Given the description of an element on the screen output the (x, y) to click on. 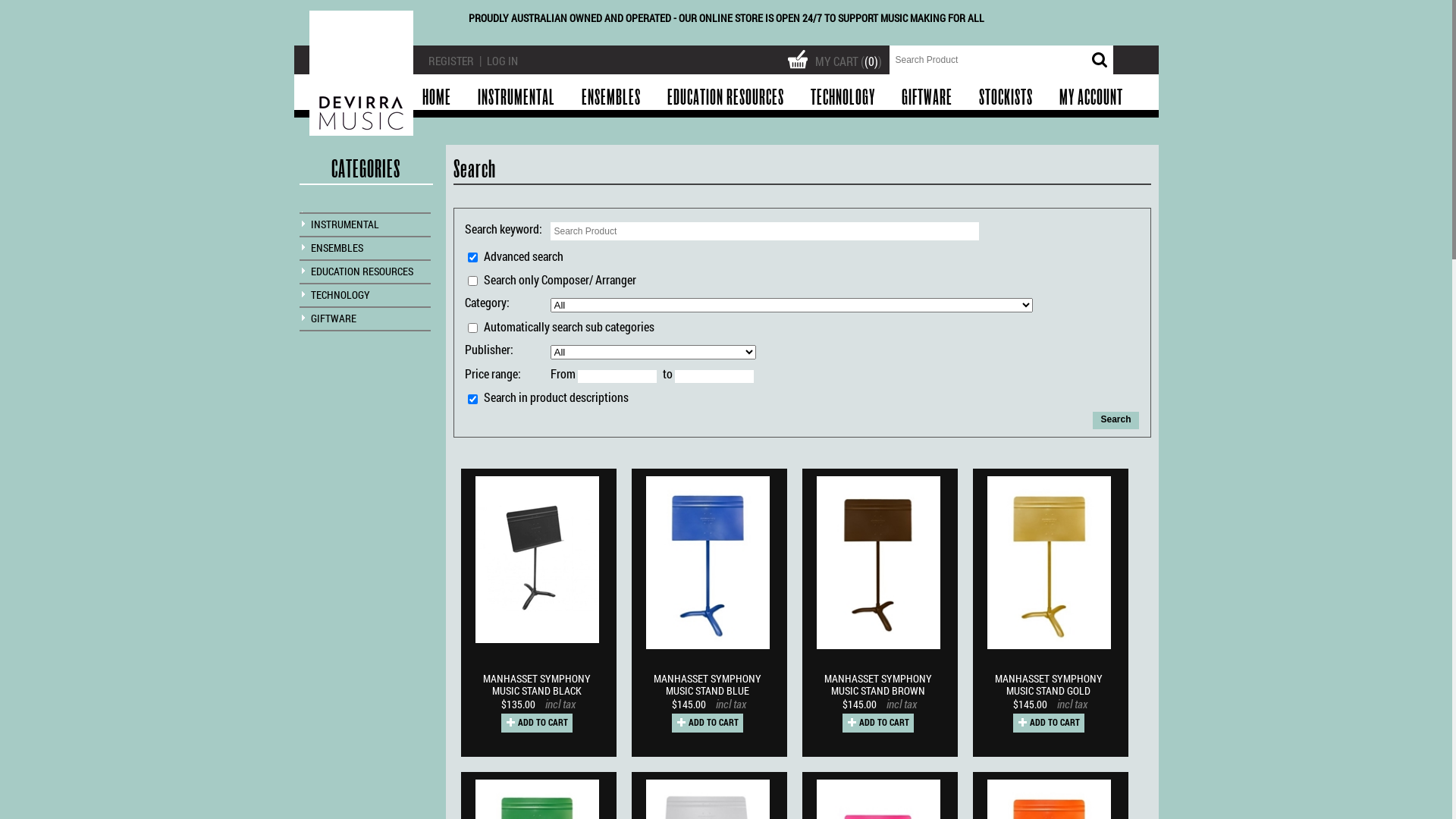
INSTRUMENTAL Element type: text (344, 223)
Show details for Manhasset Symphony Music Stand Blue Element type: hover (707, 647)
TECHNOLOGY Element type: text (340, 294)
Search Element type: text (1115, 420)
Show details for Manhasset Symphony Music Stand Gold Element type: hover (1048, 562)
MANHASSET SYMPHONY MUSIC STAND BLACK Element type: text (540, 685)
TECHNOLOGY Element type: text (841, 97)
REGISTER Element type: text (450, 60)
Show details for Manhasset Symphony Music Stand Black Element type: hover (537, 559)
Show details for Manhasset Symphony Music Stand Black Element type: hover (536, 641)
Show details for Manhasset Symphony Music Stand Brown Element type: hover (878, 562)
Show details for Manhasset Symphony Music Stand Blue Element type: hover (707, 562)
EDUCATION RESOURCES Element type: text (725, 97)
HOME Element type: text (435, 97)
GIFTWARE Element type: text (925, 97)
Show details for Manhasset Symphony Music Stand Brown Element type: hover (878, 647)
STOCKISTS Element type: text (1005, 97)
MY CART ((0)) Element type: text (836, 57)
  Element type: text (361, 72)
Add to Cart Element type: text (877, 722)
Add to Cart Element type: text (535, 722)
MANHASSET SYMPHONY MUSIC STAND GOLD Element type: text (1051, 685)
MANHASSET SYMPHONY MUSIC STAND BLUE Element type: text (710, 685)
Add to Cart Element type: text (707, 722)
GIFTWARE Element type: text (333, 317)
ENSEMBLES Element type: text (336, 247)
Show details for Manhasset Symphony Music Stand Gold Element type: hover (1048, 647)
EDUCATION RESOURCES Element type: text (361, 270)
MY ACCOUNT Element type: text (1090, 97)
LOG IN Element type: text (501, 60)
INSTRUMENTAL Element type: text (516, 97)
Add to Cart Element type: text (1048, 722)
MANHASSET SYMPHONY MUSIC STAND BROWN Element type: text (881, 685)
ENSEMBLES Element type: text (610, 97)
